Given the description of an element on the screen output the (x, y) to click on. 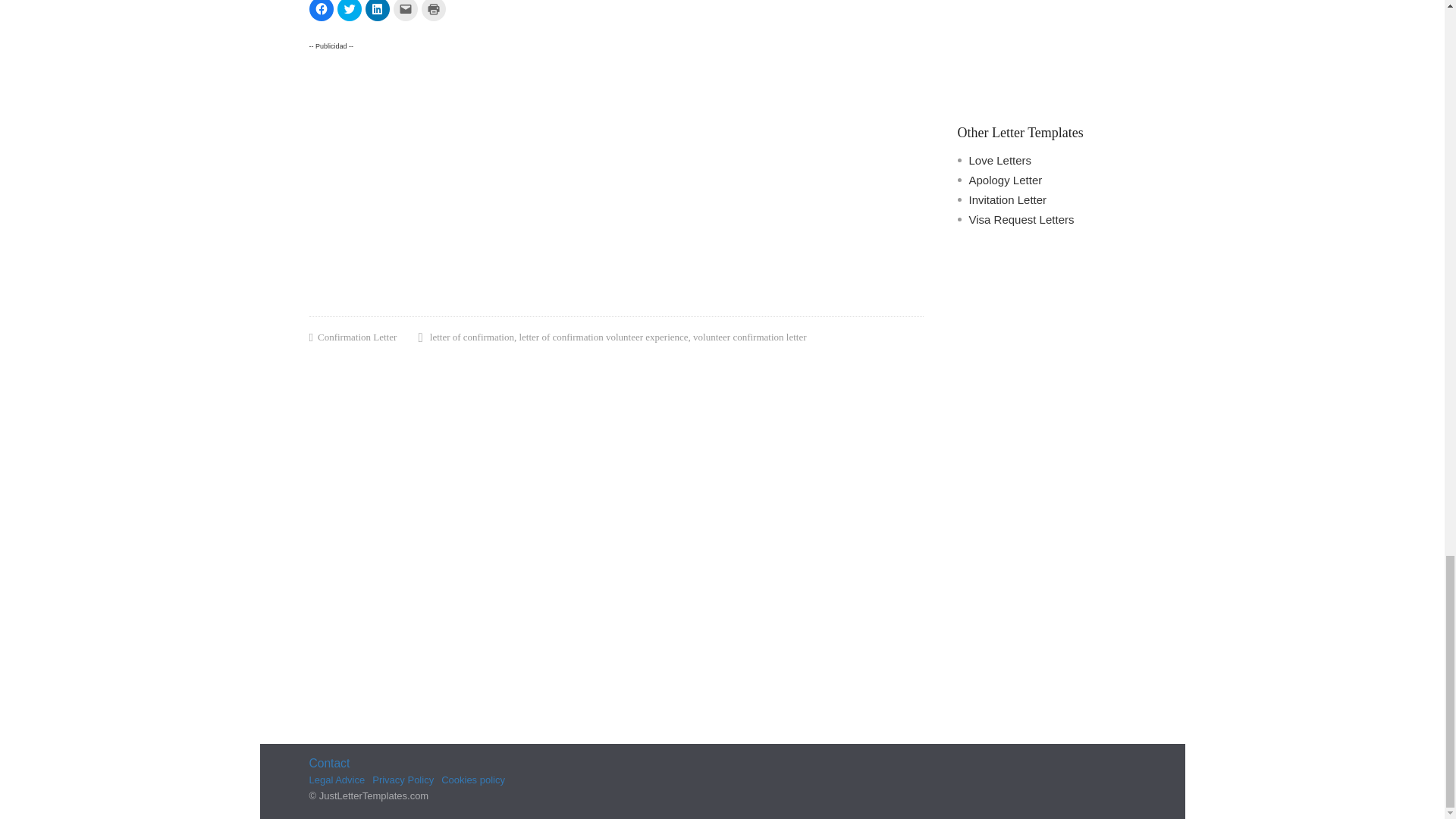
Click to email a link to a friend (404, 10)
Click to print (433, 10)
Click to share on LinkedIn (377, 10)
Confirmation Letter (356, 338)
Click to share on Twitter (348, 10)
Click to share on Facebook (320, 10)
